Given the description of an element on the screen output the (x, y) to click on. 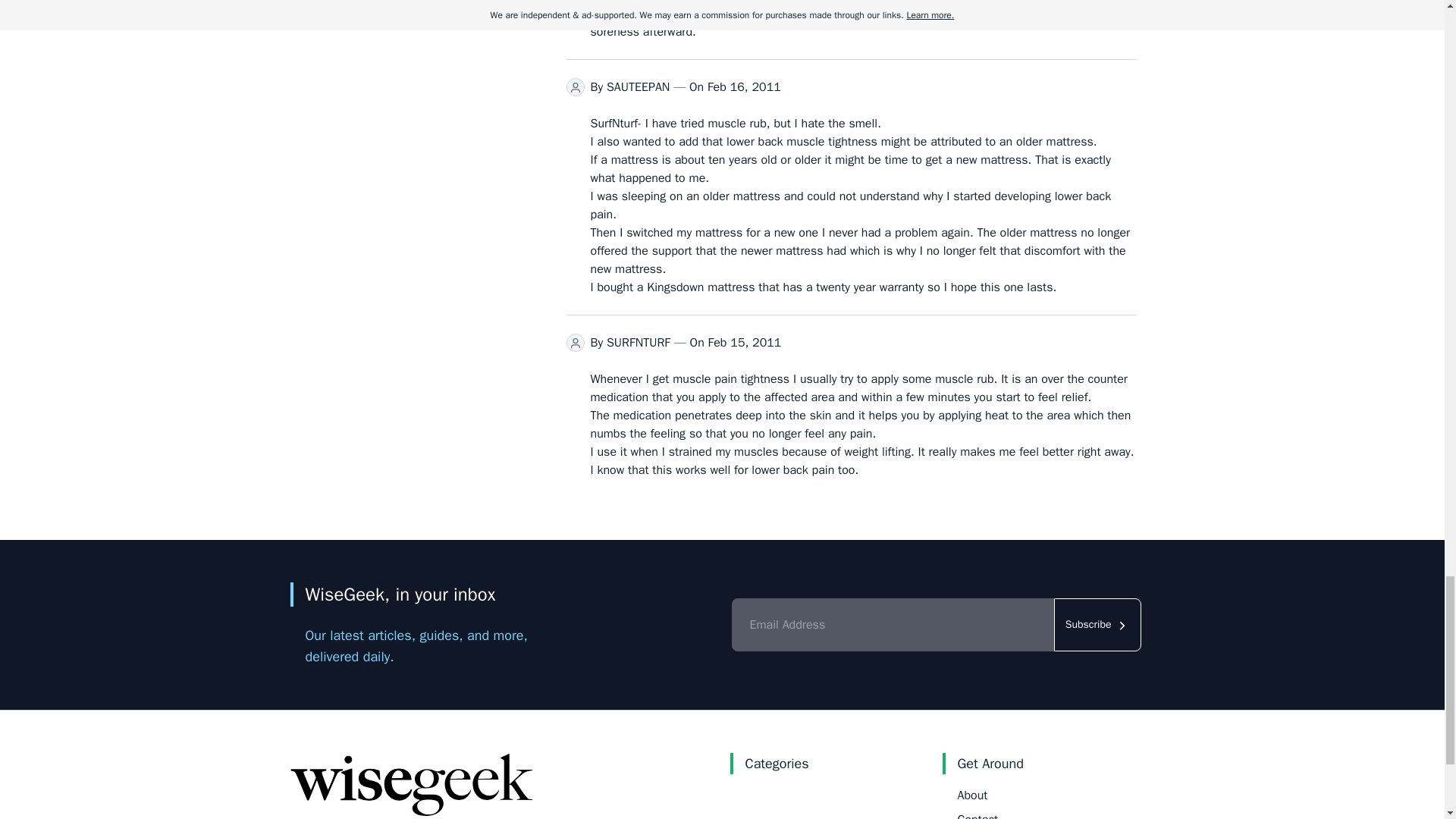
Contact (976, 815)
Subscribe (1097, 624)
About (971, 795)
